Given the description of an element on the screen output the (x, y) to click on. 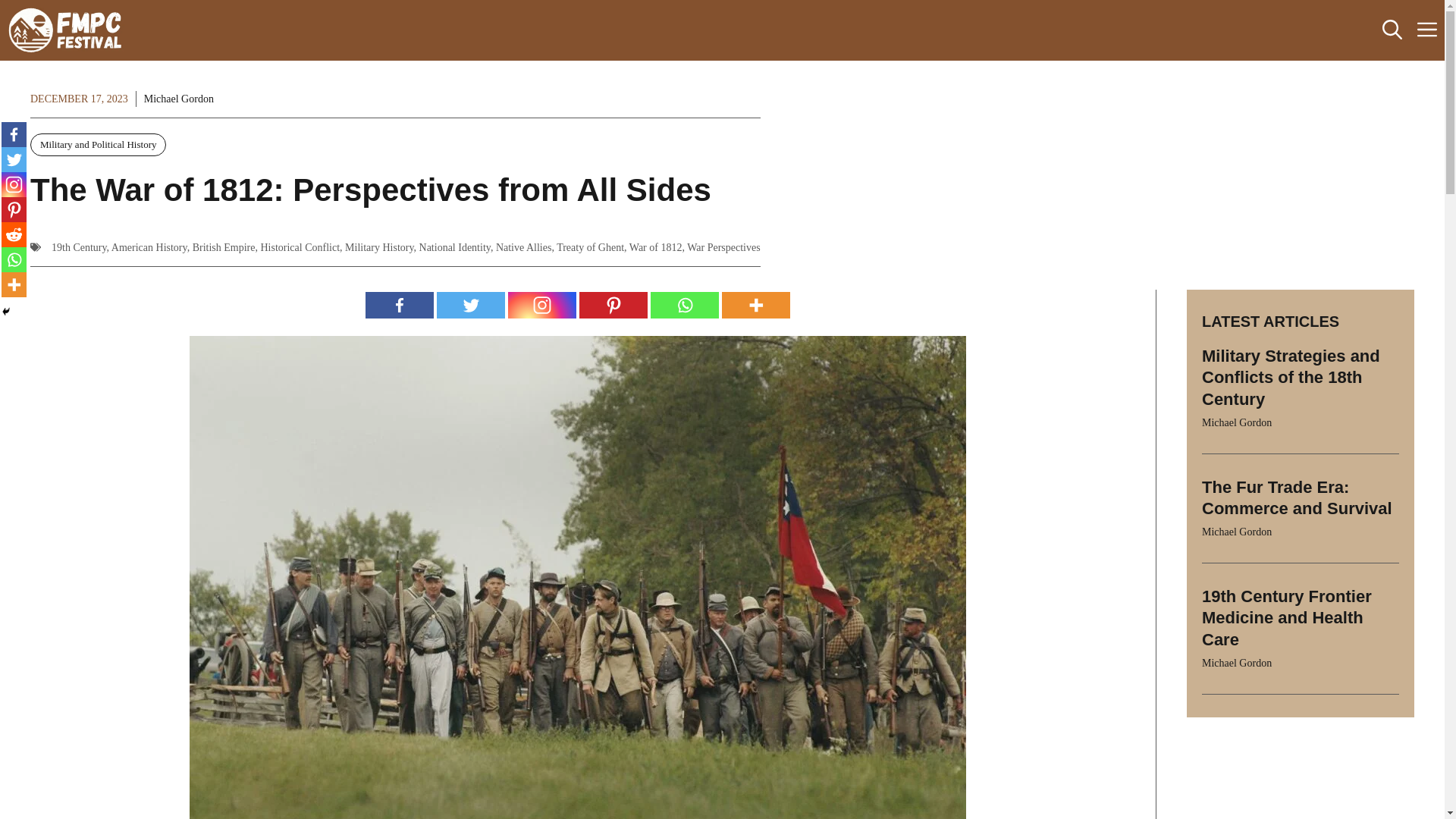
Historical Conflict (299, 247)
National Identity (454, 247)
War of 1812 (655, 247)
Whatsapp (684, 304)
Military History (379, 247)
19th Century (78, 247)
More (756, 304)
American History (149, 247)
Twitter (470, 304)
British Empire (224, 247)
